Given the description of an element on the screen output the (x, y) to click on. 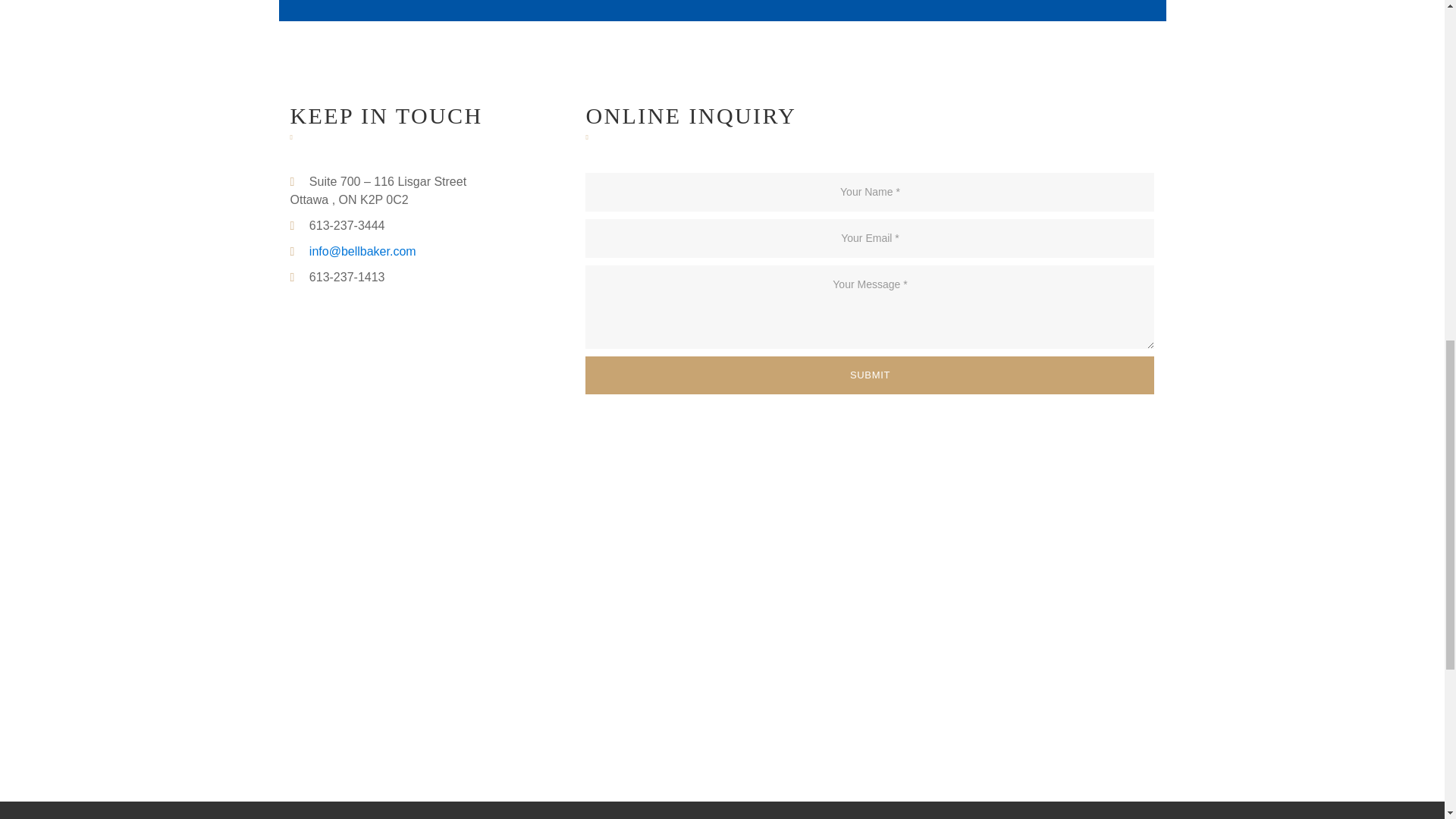
SUBMIT (869, 374)
